Given the description of an element on the screen output the (x, y) to click on. 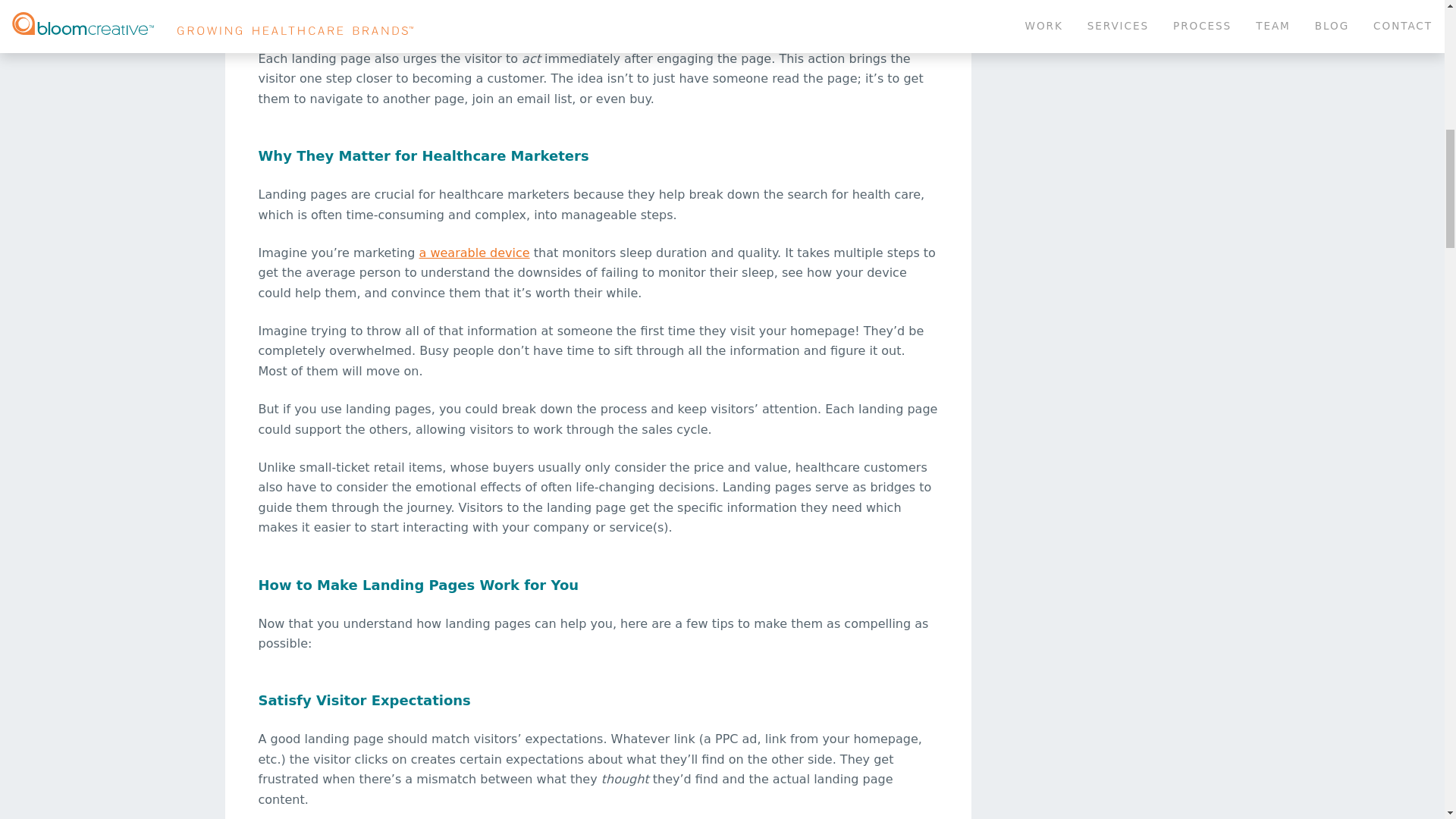
a wearable device (474, 252)
